Given the description of an element on the screen output the (x, y) to click on. 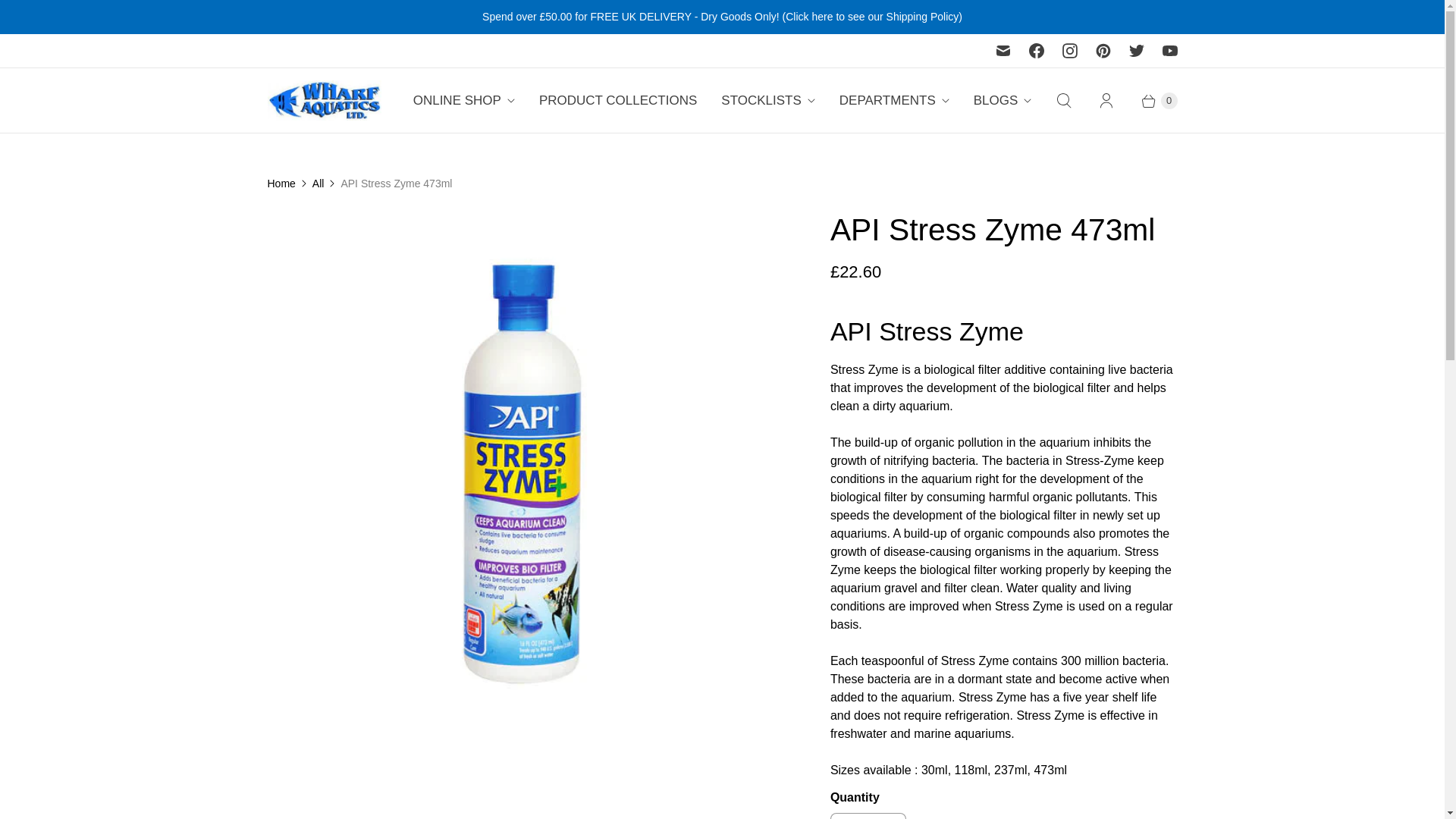
PRODUCT COLLECTIONS (618, 100)
1 (868, 816)
0 (1151, 100)
